Given the description of an element on the screen output the (x, y) to click on. 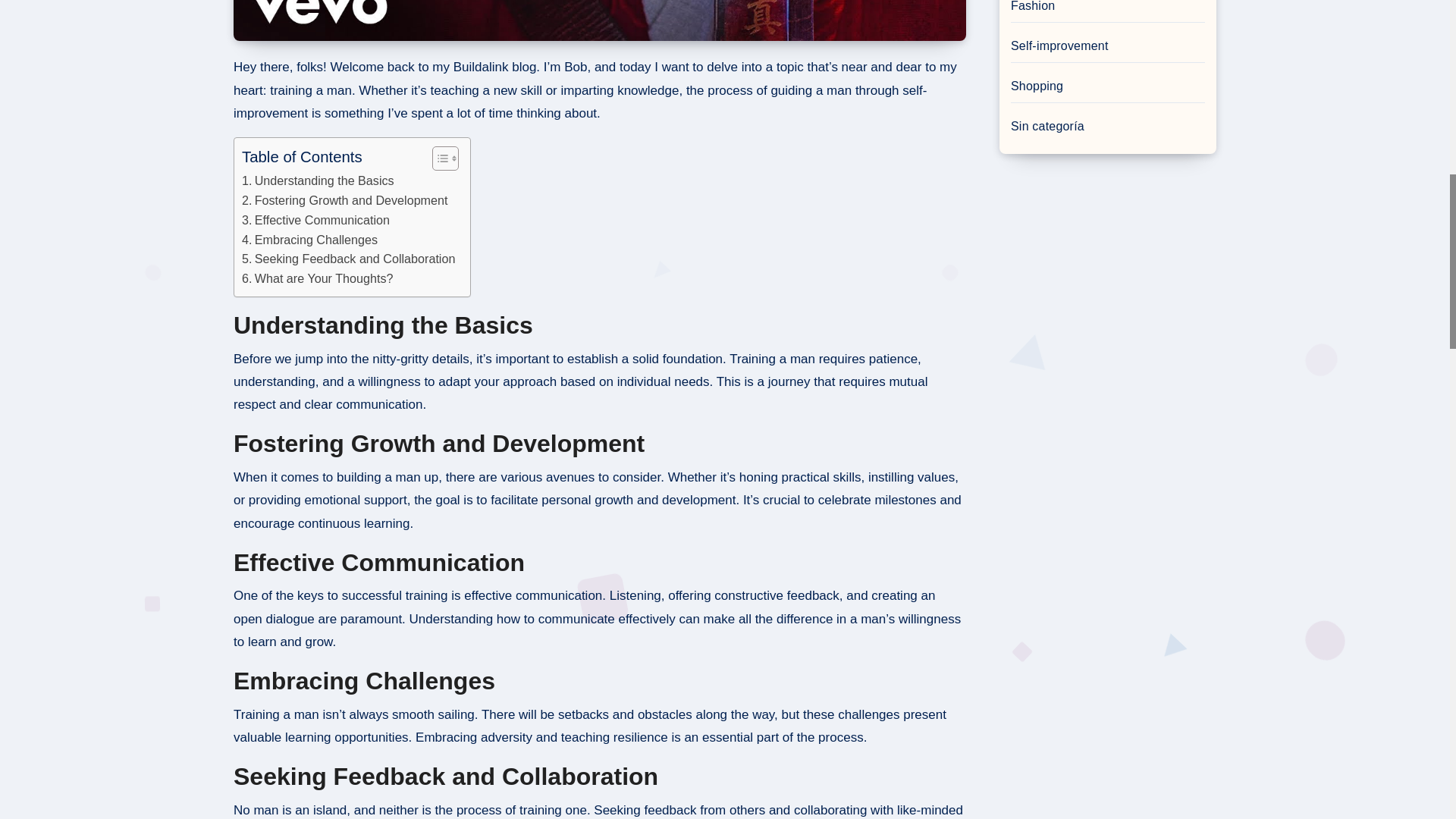
Fostering Growth and Development (344, 200)
Understanding the Basics (317, 180)
Seeking Feedback and Collaboration (347, 259)
Seeking Feedback and Collaboration (347, 259)
Effective Communication (315, 220)
Effective Communication (315, 220)
What are Your Thoughts? (317, 279)
Embracing Challenges (309, 240)
Embracing Challenges (309, 240)
Understanding the Basics (317, 180)
